Given the description of an element on the screen output the (x, y) to click on. 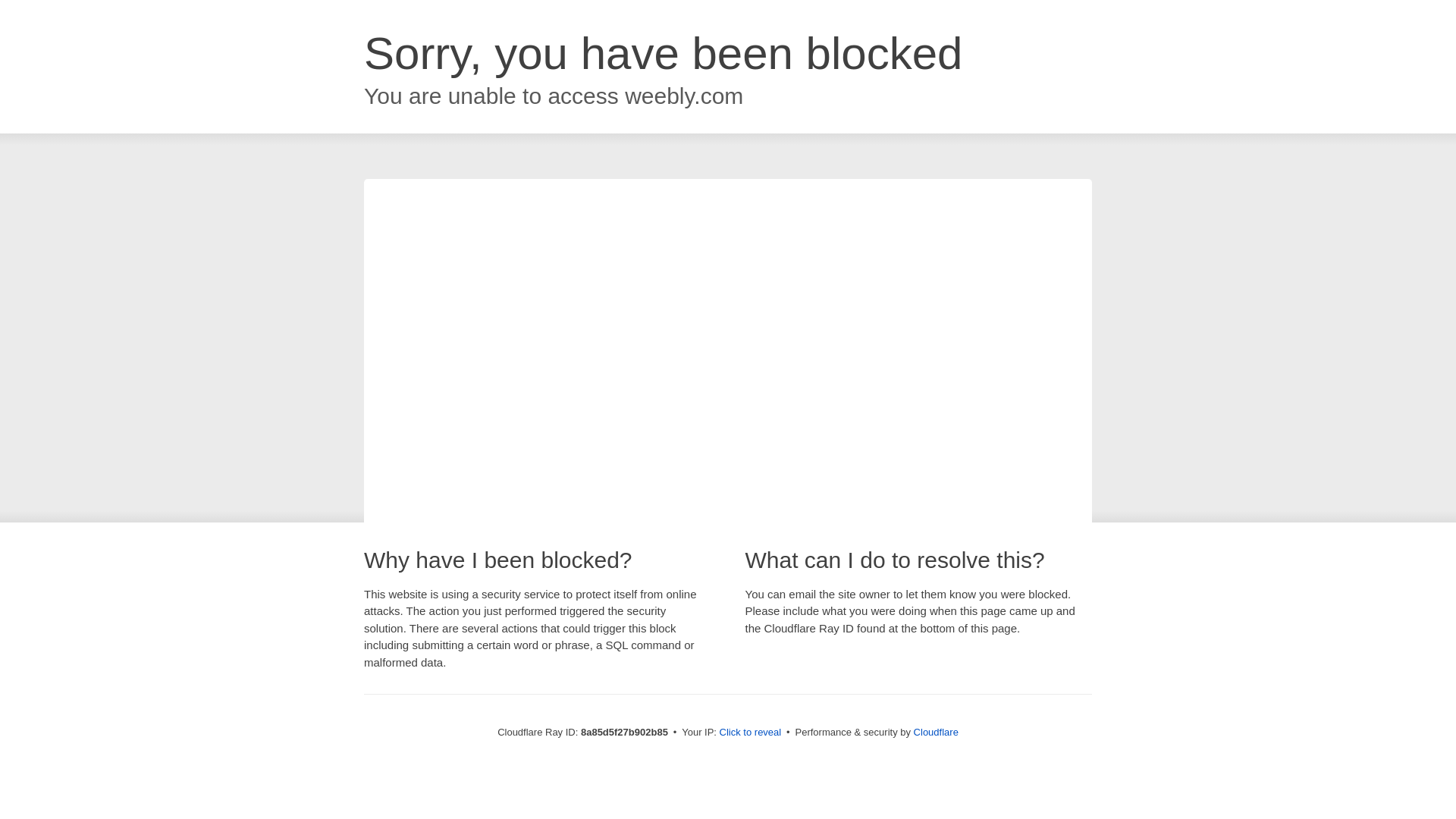
Click to reveal (750, 732)
Cloudflare (936, 731)
